Given the description of an element on the screen output the (x, y) to click on. 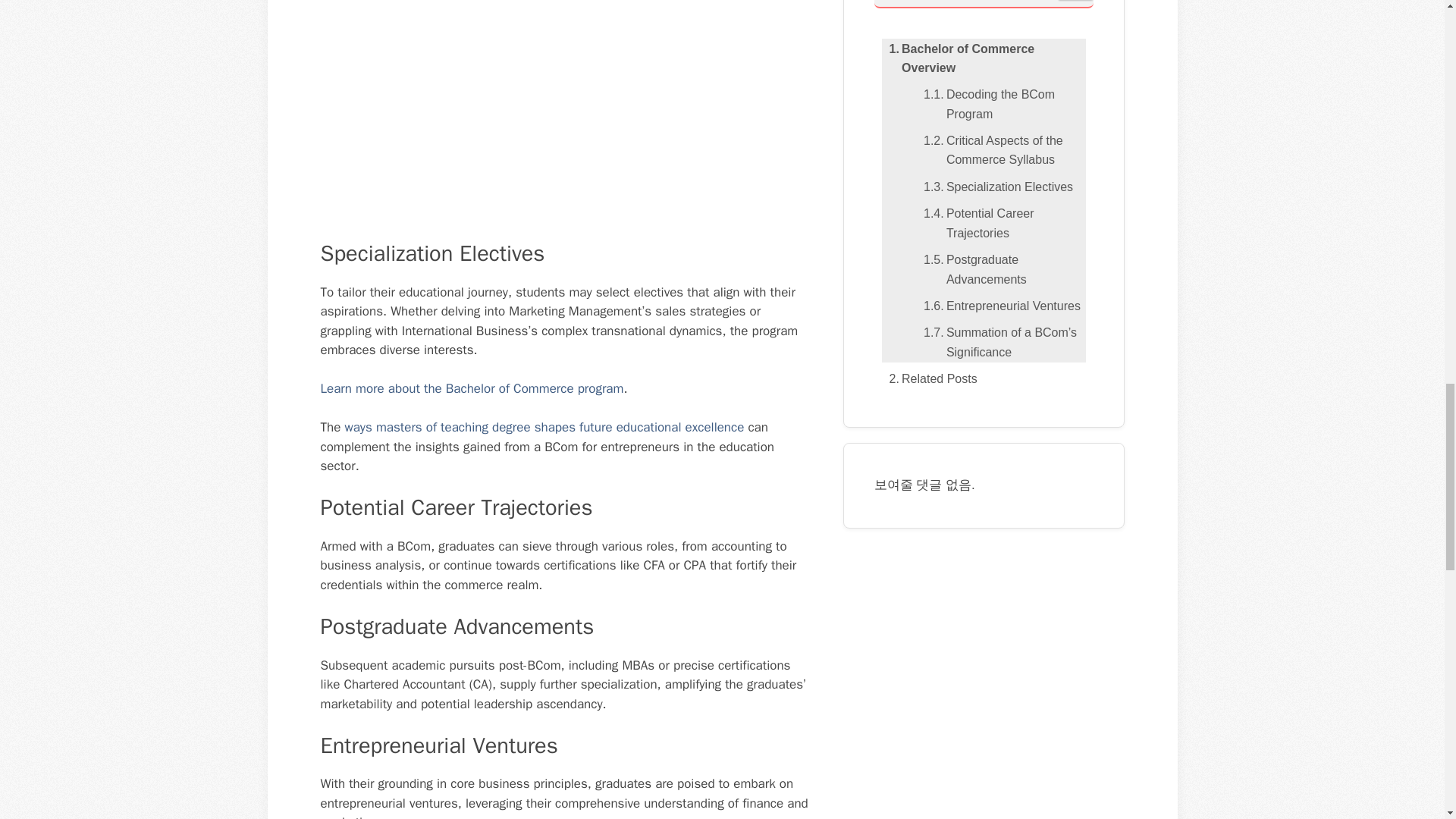
Postgraduate Advancements (1000, 269)
Potential Career Trajectories (1000, 222)
Bachelor of Commerce Overview (982, 58)
Learn more about the Bachelor of Commerce program (471, 388)
Critical Aspects of the Commerce Syllabus (1000, 150)
Decoding the BCom Program (1000, 104)
Specialization Electives (994, 187)
